Given the description of an element on the screen output the (x, y) to click on. 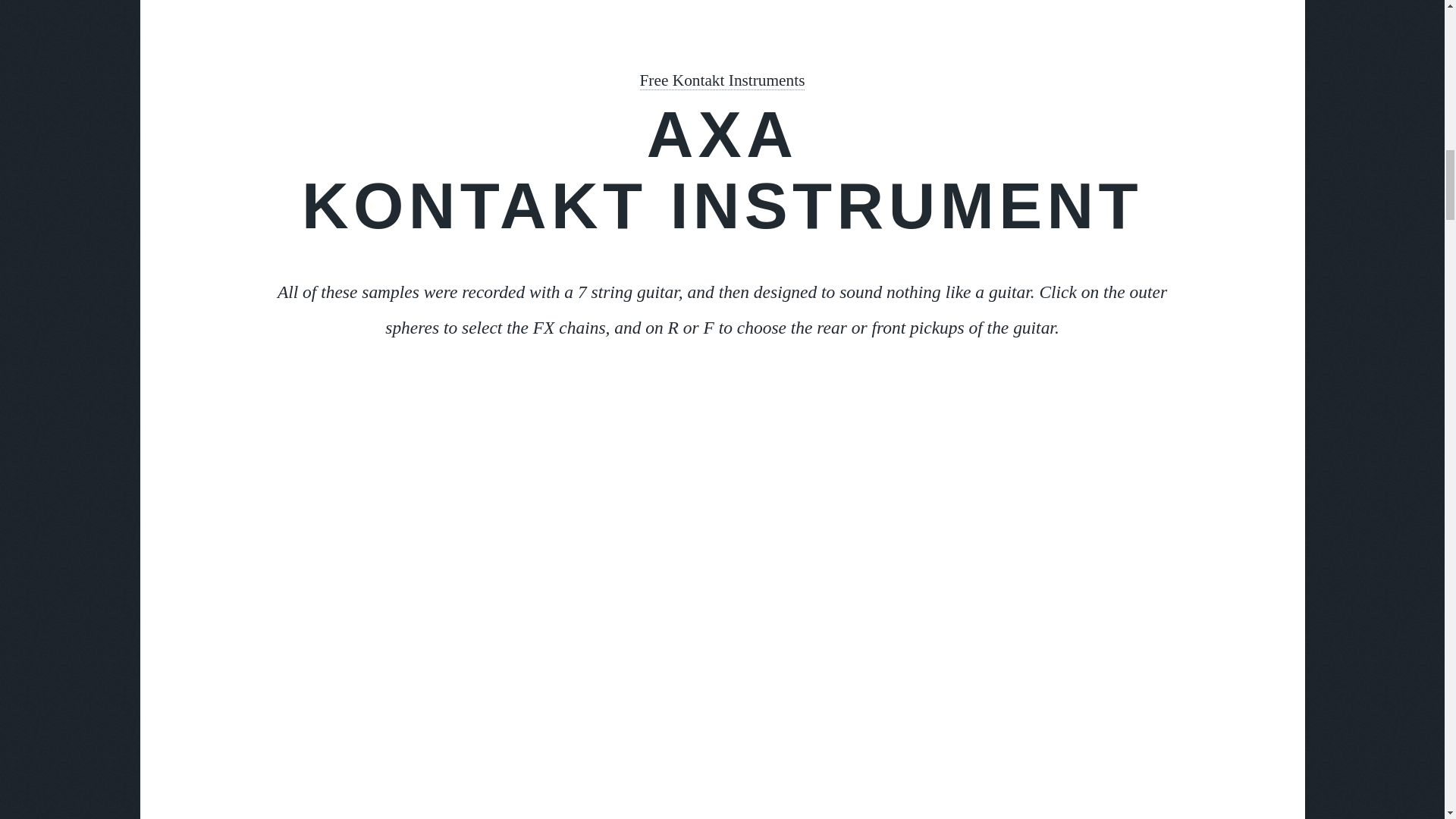
Free Kontakt Instruments (722, 80)
